Given the description of an element on the screen output the (x, y) to click on. 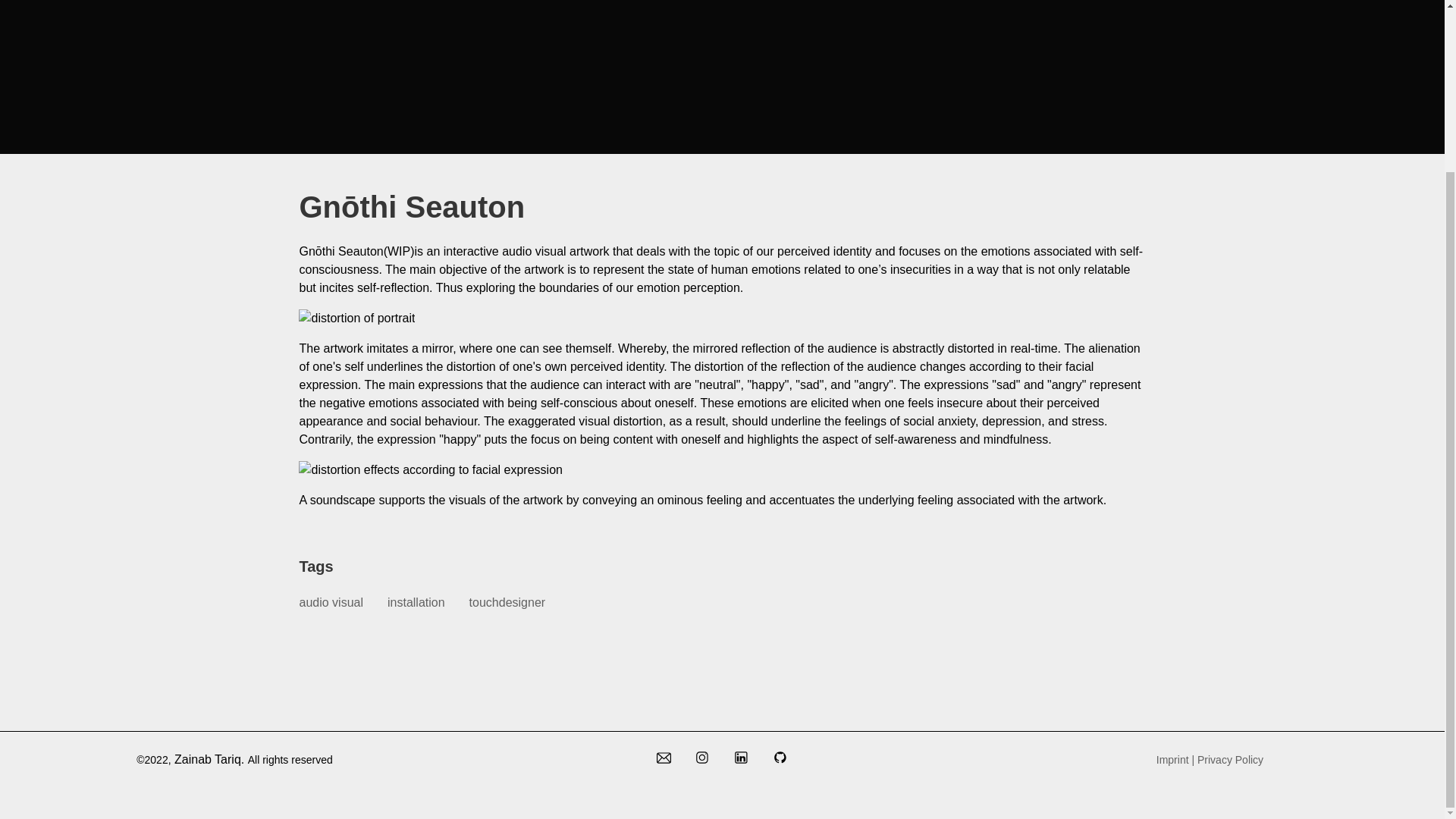
touchdesigner (507, 601)
distortion (356, 318)
installation (416, 601)
distortion according to fer (430, 470)
linkedin (741, 759)
instagram (702, 759)
audio visual (330, 601)
Github (780, 759)
